Given the description of an element on the screen output the (x, y) to click on. 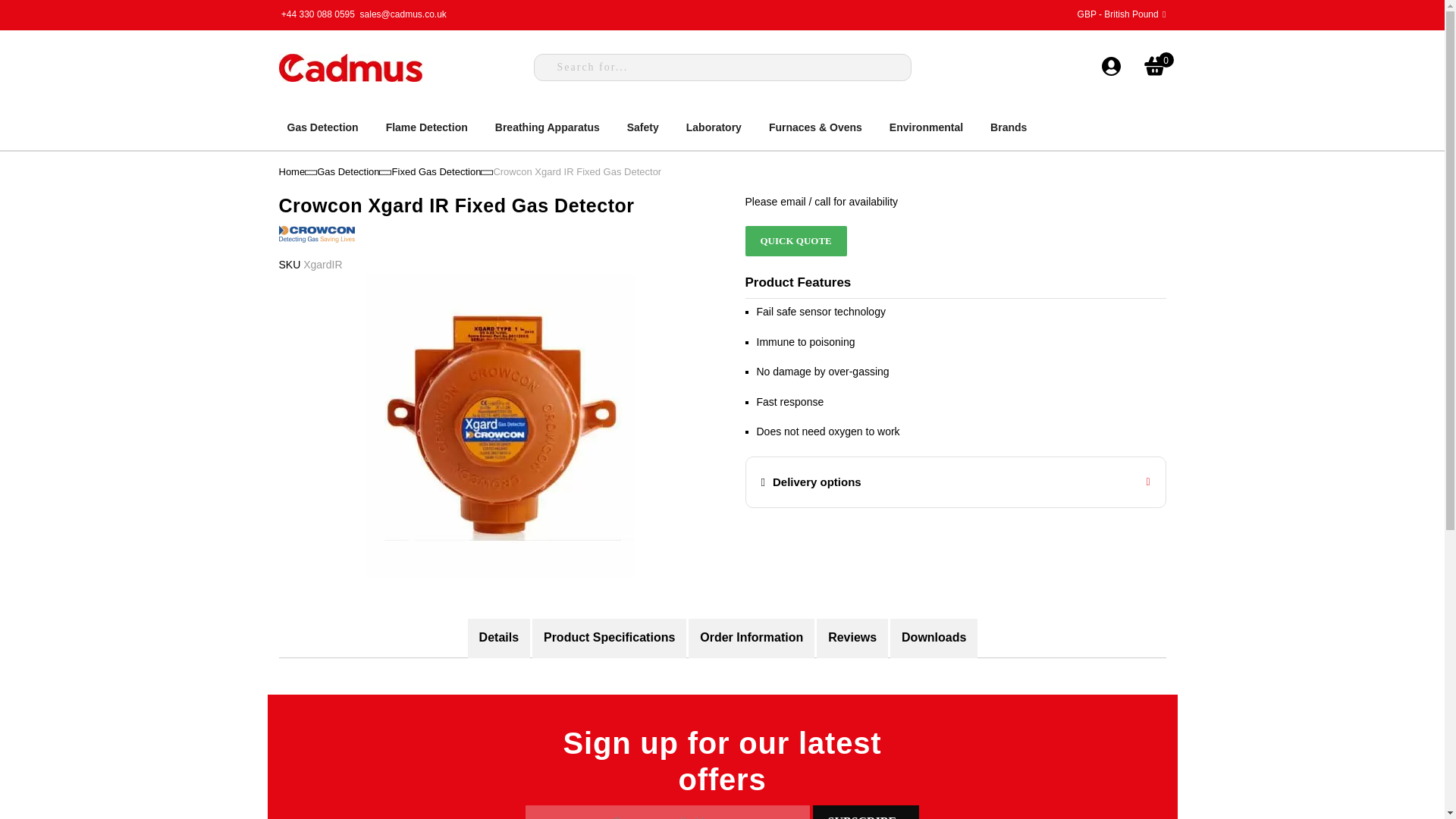
Fixed Gas Detection (436, 171)
Gas Detection (322, 127)
Crowcon (317, 245)
Gas Detection (347, 171)
Subscribe (865, 812)
Crowcon (317, 234)
Go to Home Page (292, 171)
